Given the description of an element on the screen output the (x, y) to click on. 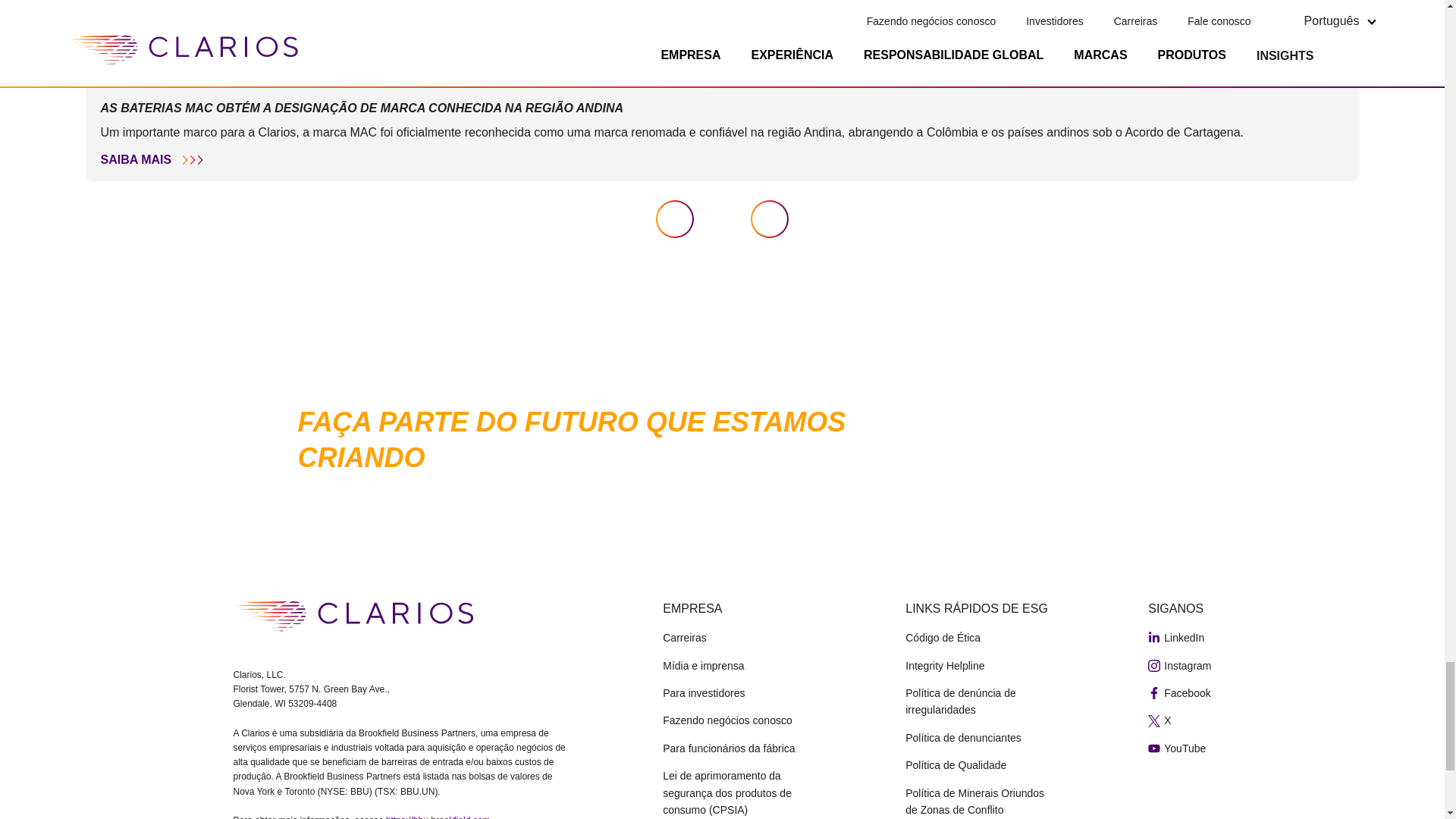
Clarios (354, 616)
